Given the description of an element on the screen output the (x, y) to click on. 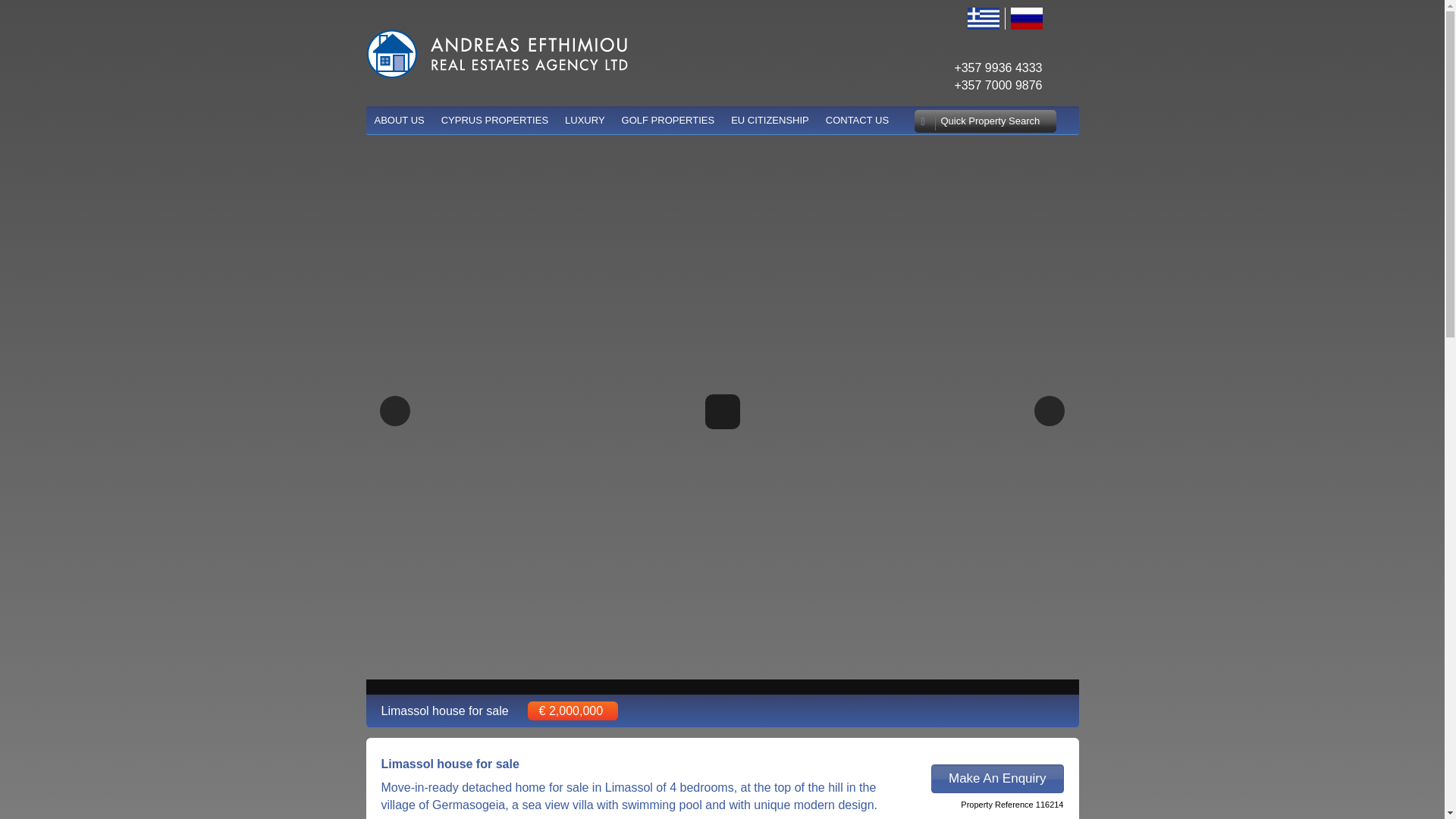
CONTACT US (857, 119)
LUXURY (585, 119)
CYPRUS PROPERTIES (494, 119)
Luxury Properties (585, 119)
Buy property in Cyprus (494, 119)
GOLF PROPERTIES (668, 119)
ABOUT US (399, 119)
EU CITIZENSHIP (769, 119)
Properties for sale in Cyprus (496, 53)
Andreas Efthimiou Real Estates (399, 119)
Cyprus properties (721, 120)
